Given the description of an element on the screen output the (x, y) to click on. 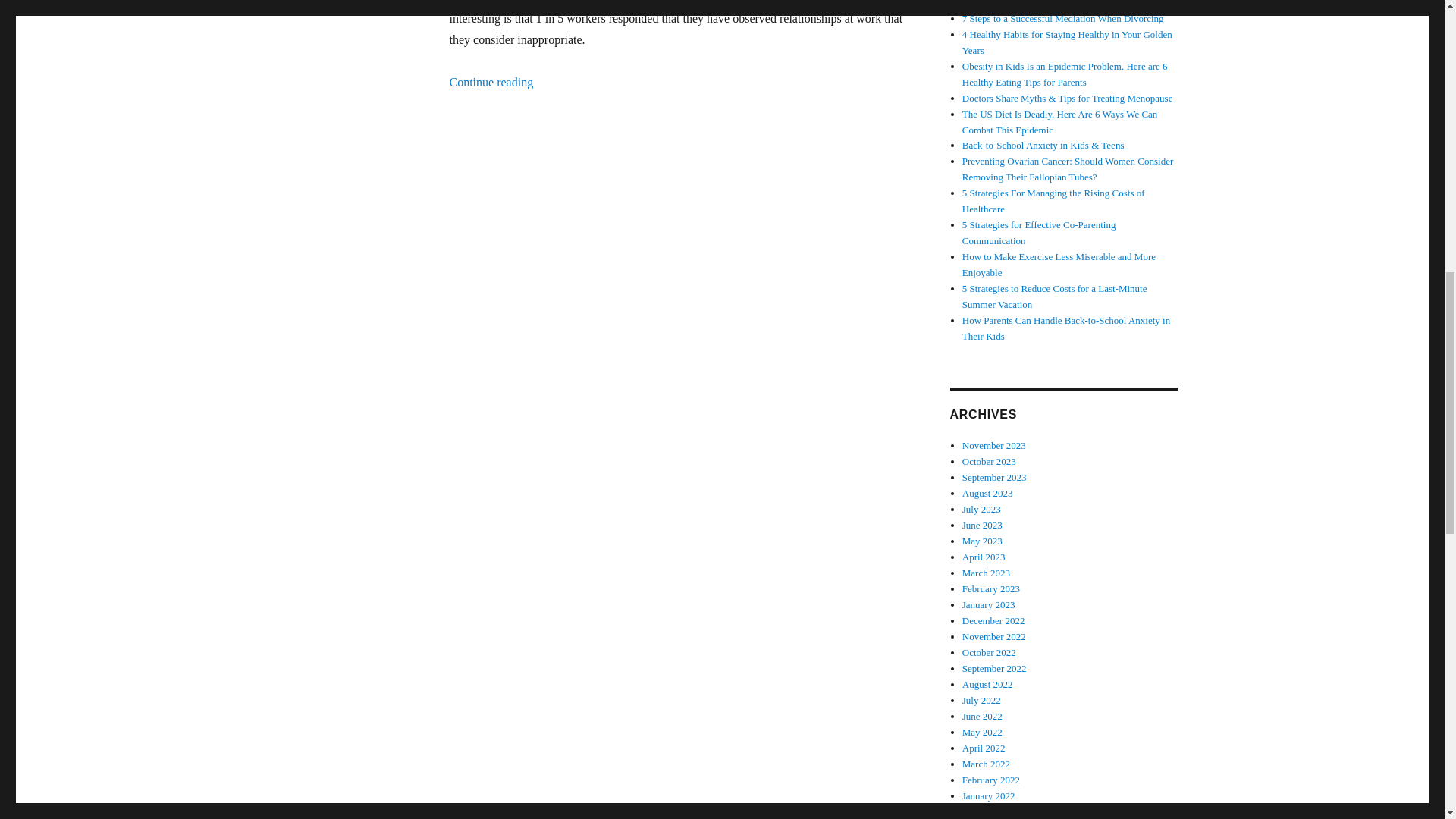
7 Steps to a Successful Mediation When Divorcing (1062, 18)
5 Strategies For Managing the Rising Costs of Healthcare (1053, 200)
4 Healthy Habits for Staying Healthy in Your Golden Years (1067, 42)
